Given the description of an element on the screen output the (x, y) to click on. 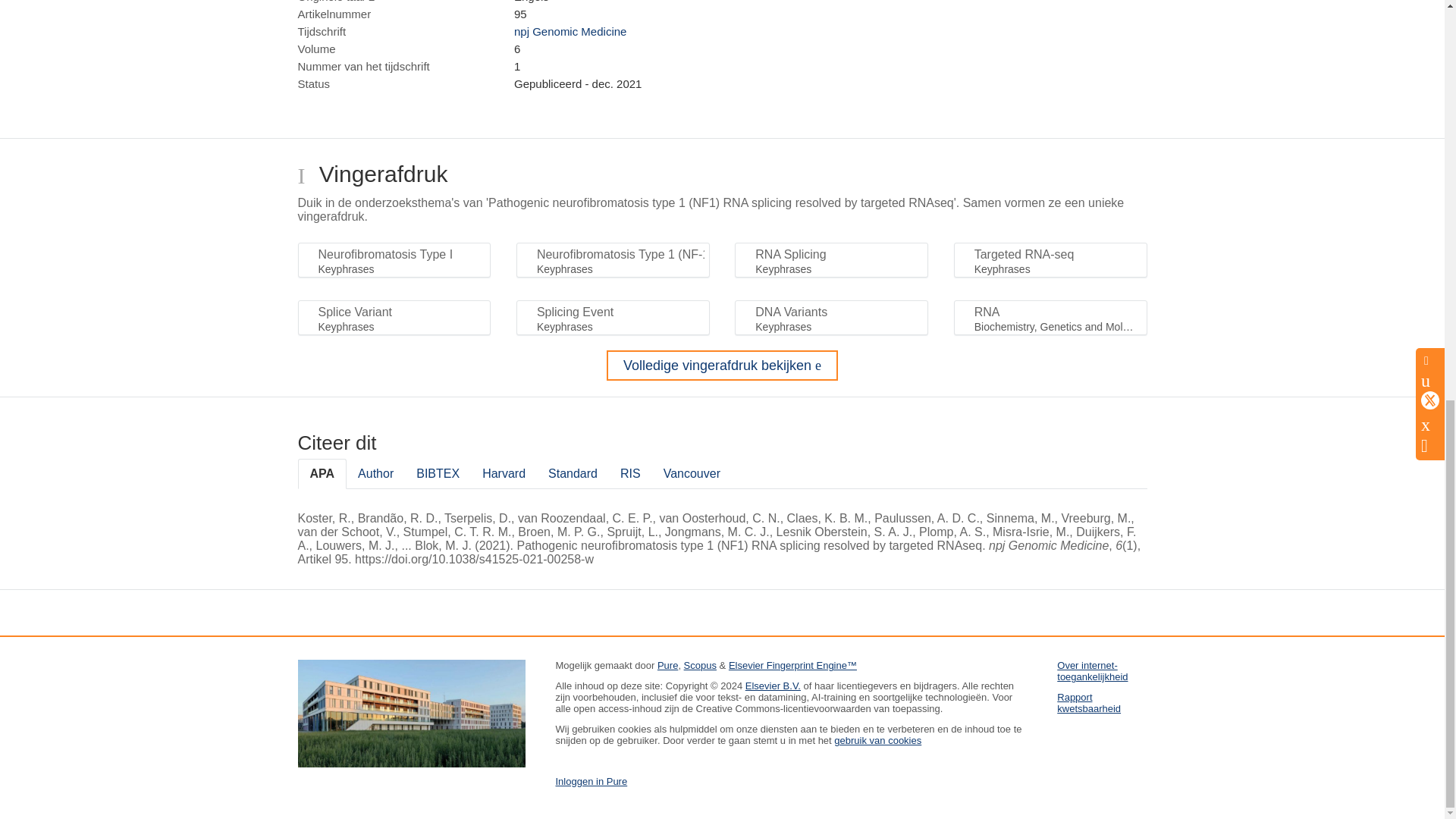
npj Genomic Medicine (569, 31)
Pure (668, 665)
Volledige vingerafdruk bekijken (722, 365)
